Given the description of an element on the screen output the (x, y) to click on. 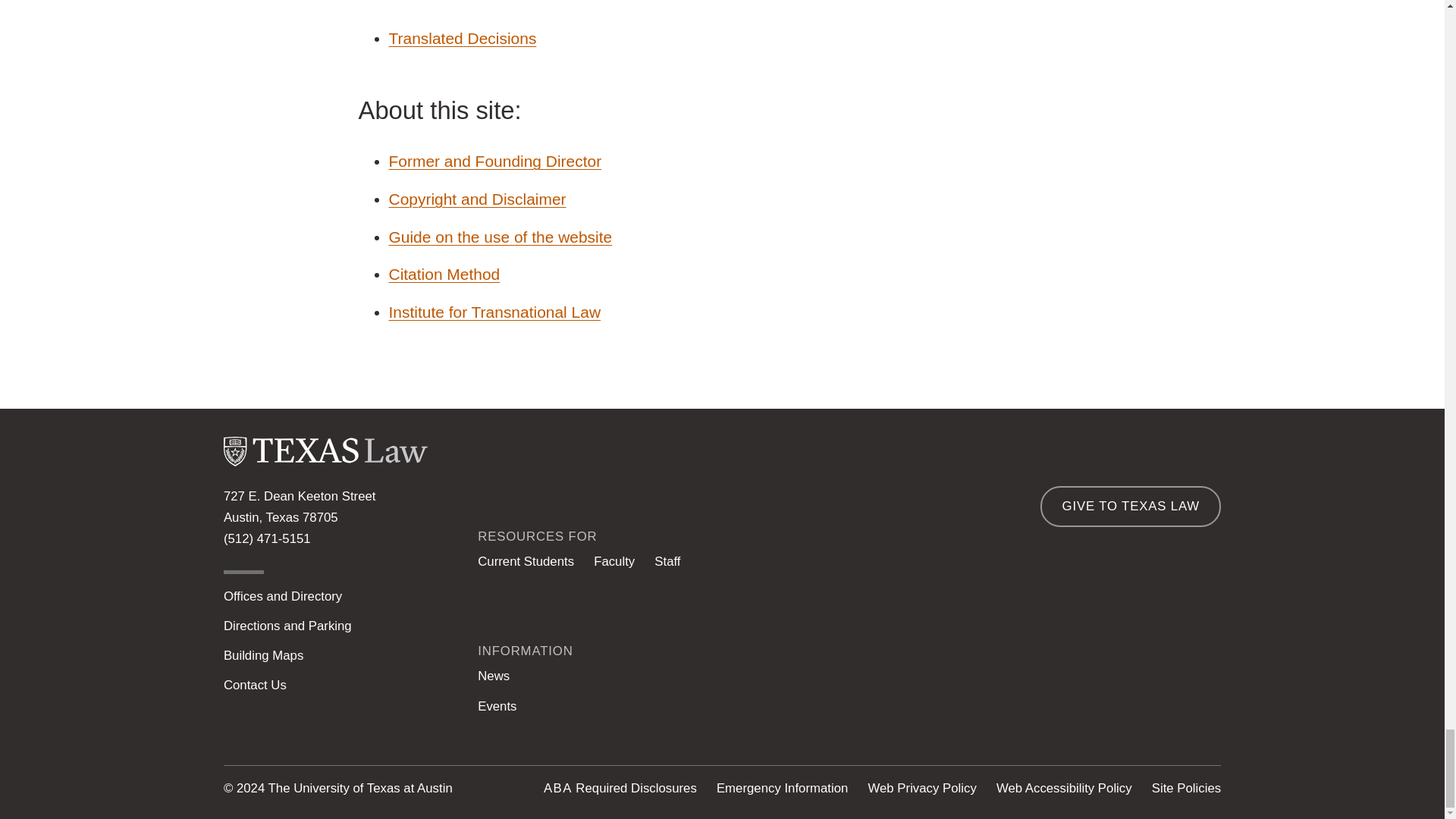
American Bar Association (557, 788)
LinkedIn (973, 696)
YouTube (1147, 696)
Flickr (1206, 696)
Instagram (915, 696)
Facebook (1091, 696)
Twitter (1031, 696)
